Given the description of an element on the screen output the (x, y) to click on. 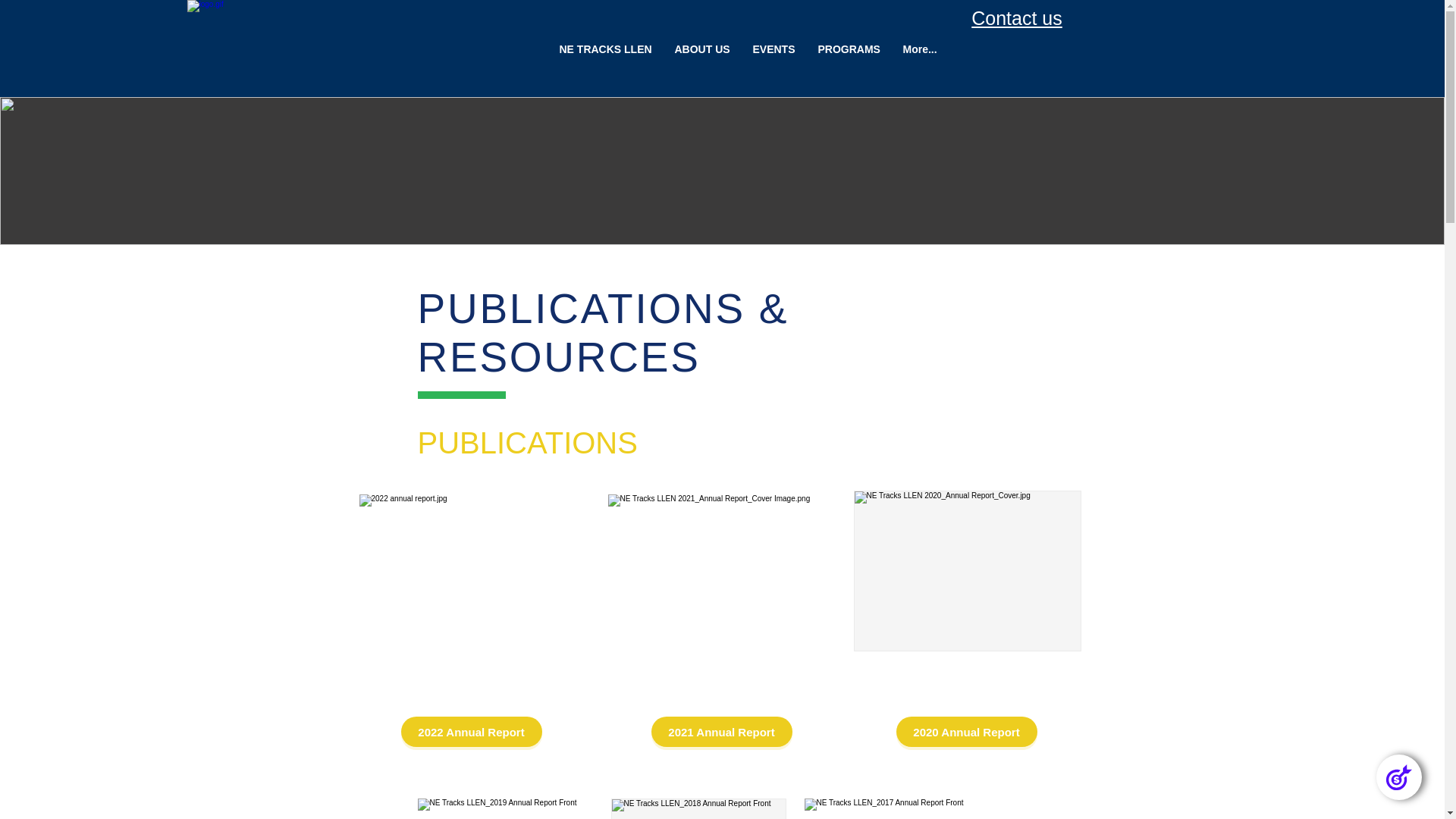
PROGRAMS Element type: text (848, 49)
EVENTS Element type: text (773, 49)
Contact us Element type: text (1016, 17)
2021 Annual Report Element type: text (720, 731)
ABOUT US Element type: text (701, 49)
NE TRACKS LLEN Element type: text (604, 49)
2020 Annual Report Element type: text (966, 731)
2022 Annual Report Element type: text (470, 731)
